Given the description of an element on the screen output the (x, y) to click on. 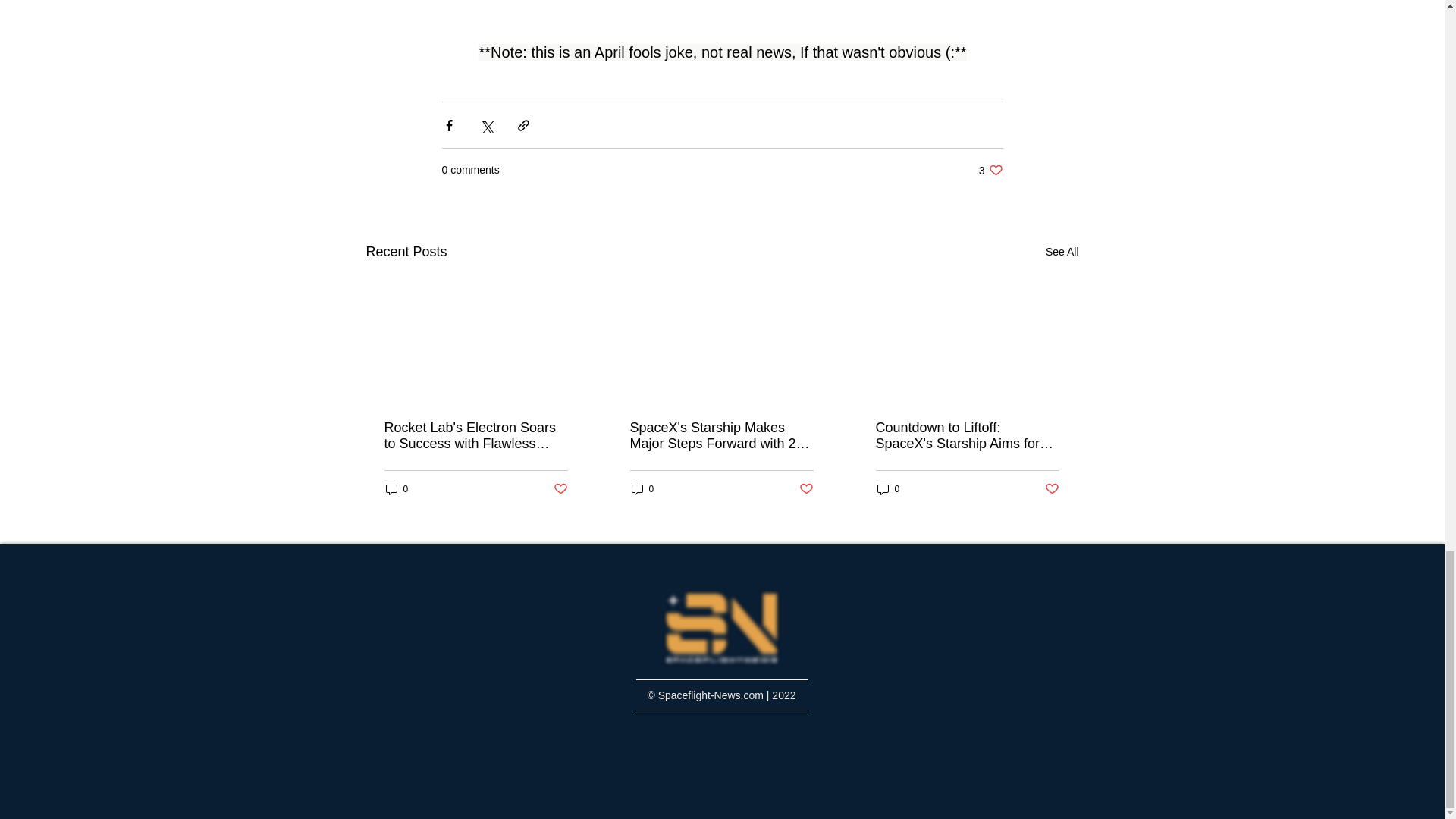
See All (1061, 251)
0 (888, 489)
0 (396, 489)
Post not marked as liked (990, 169)
Post not marked as liked (1052, 489)
Post not marked as liked (806, 489)
0 (560, 489)
